Given the description of an element on the screen output the (x, y) to click on. 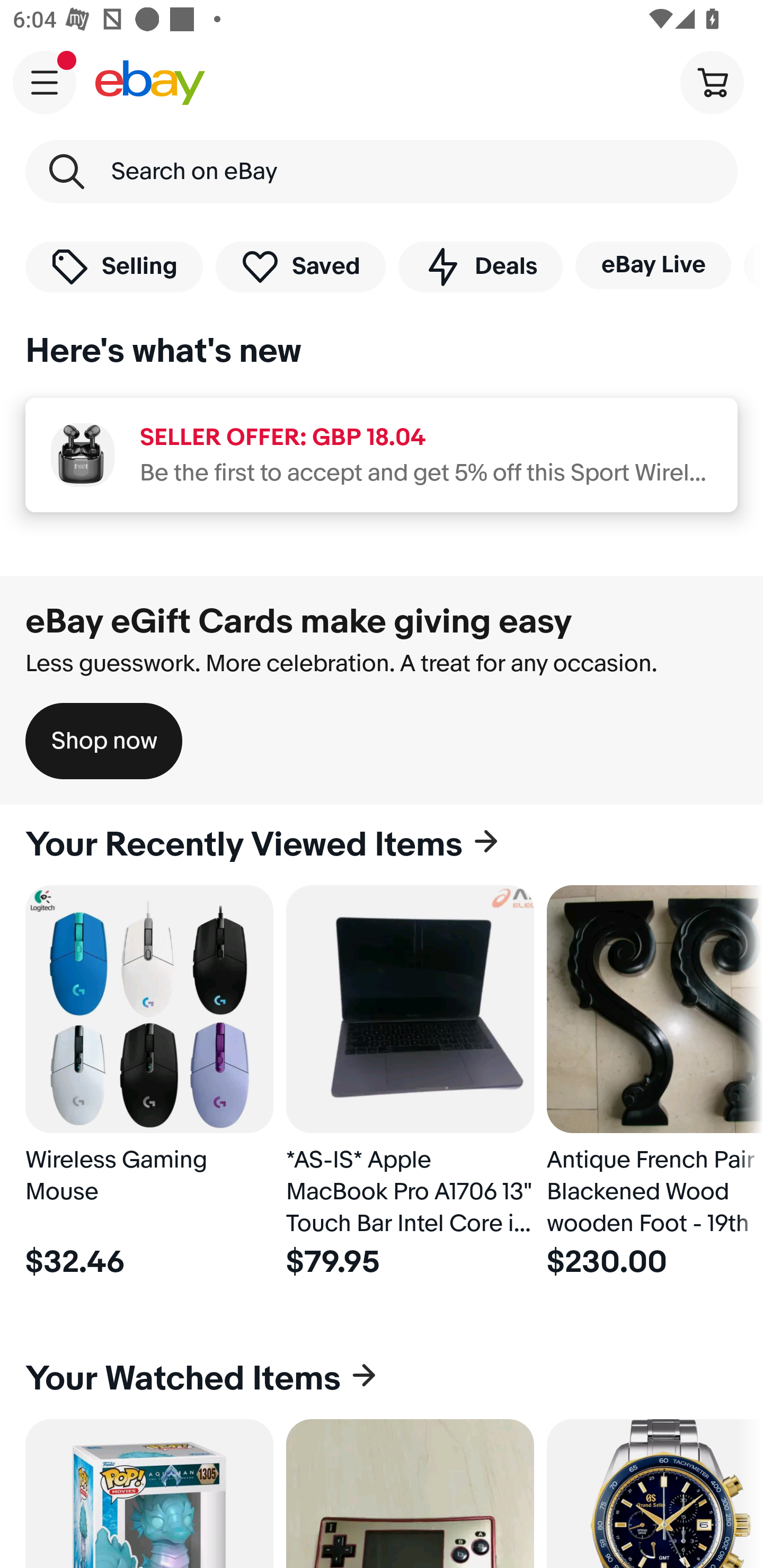
Main navigation, notification is pending, open (44, 82)
Cart button shopping cart (711, 81)
Search on eBay Search Keyword Search on eBay (381, 171)
Selling (113, 266)
Saved (300, 266)
Deals (480, 266)
eBay Live (652, 264)
eBay eGift Cards make giving easy (298, 621)
Shop now (103, 740)
Your Recently Viewed Items   (381, 844)
Your Watched Items   (381, 1379)
